Given the description of an element on the screen output the (x, y) to click on. 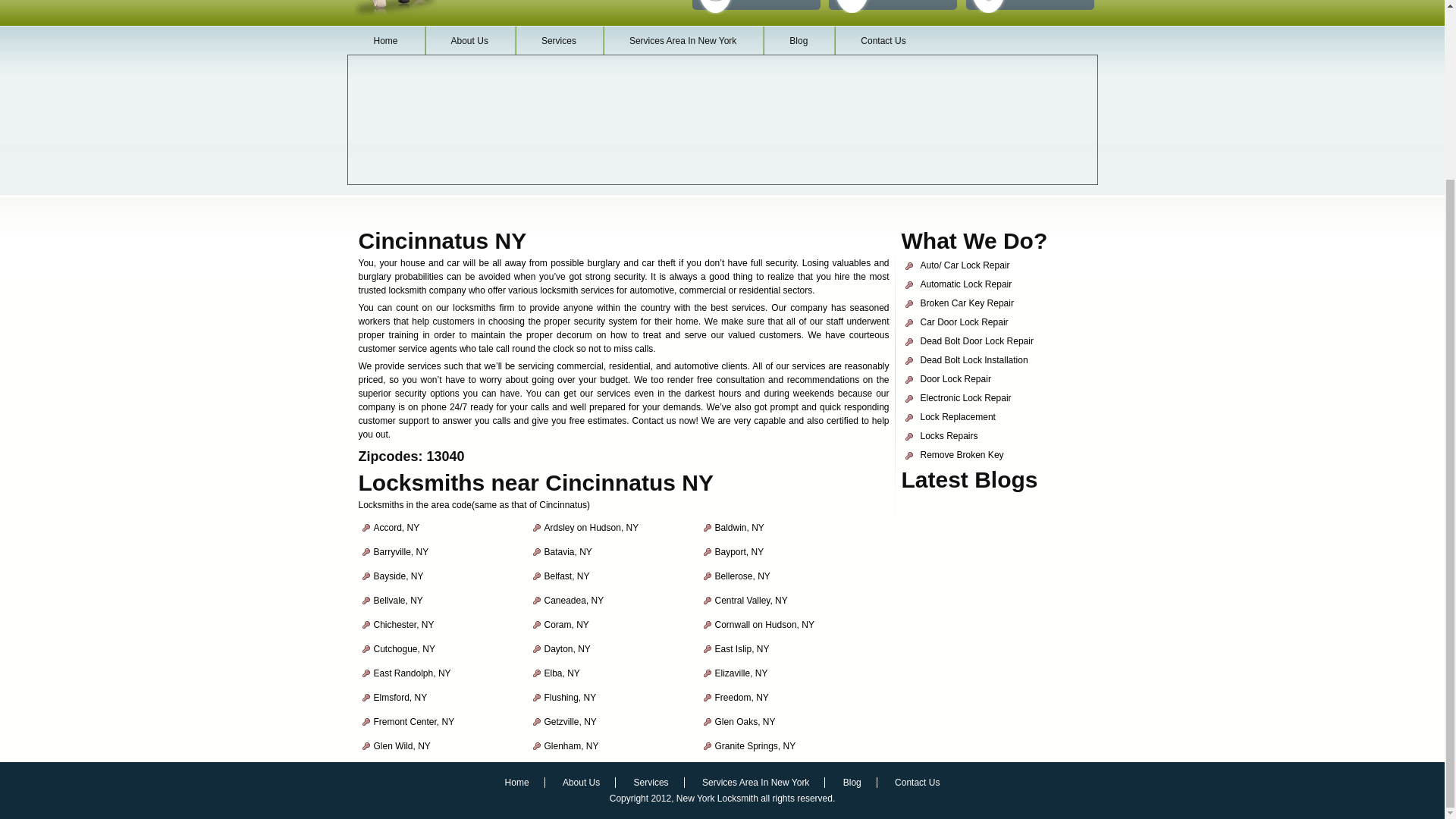
Ardsley on Hudson, NY (591, 527)
Fremont Center, NY (413, 721)
Services Area In New York (682, 40)
Cornwall on Hudson, NY (763, 624)
Bayport, NY (738, 552)
Elmsford, NY (399, 697)
Elizaville, NY (740, 673)
